Given the description of an element on the screen output the (x, y) to click on. 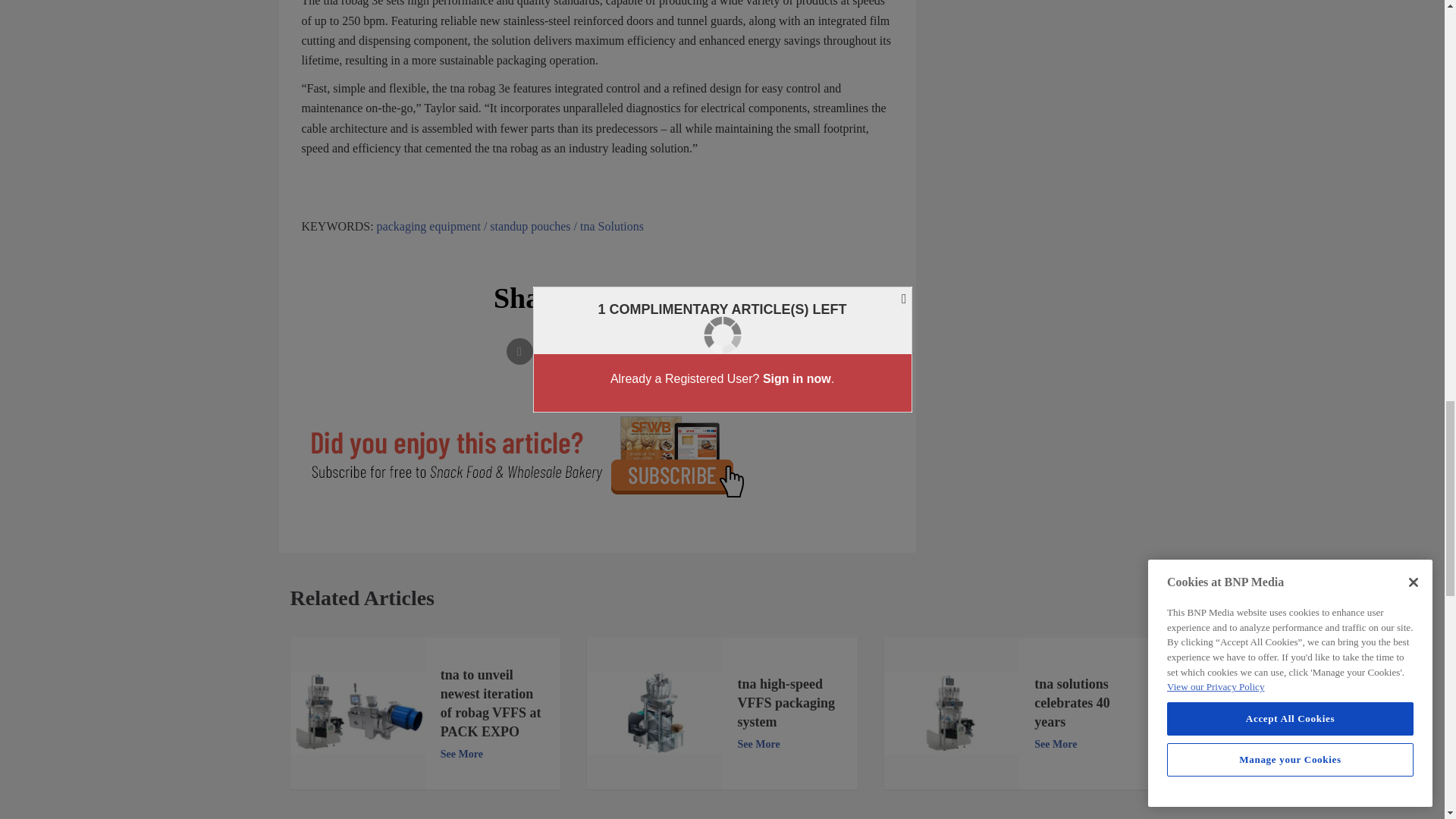
tna robag (951, 712)
tna high-speed VFFS packaging system (654, 712)
